Given the description of an element on the screen output the (x, y) to click on. 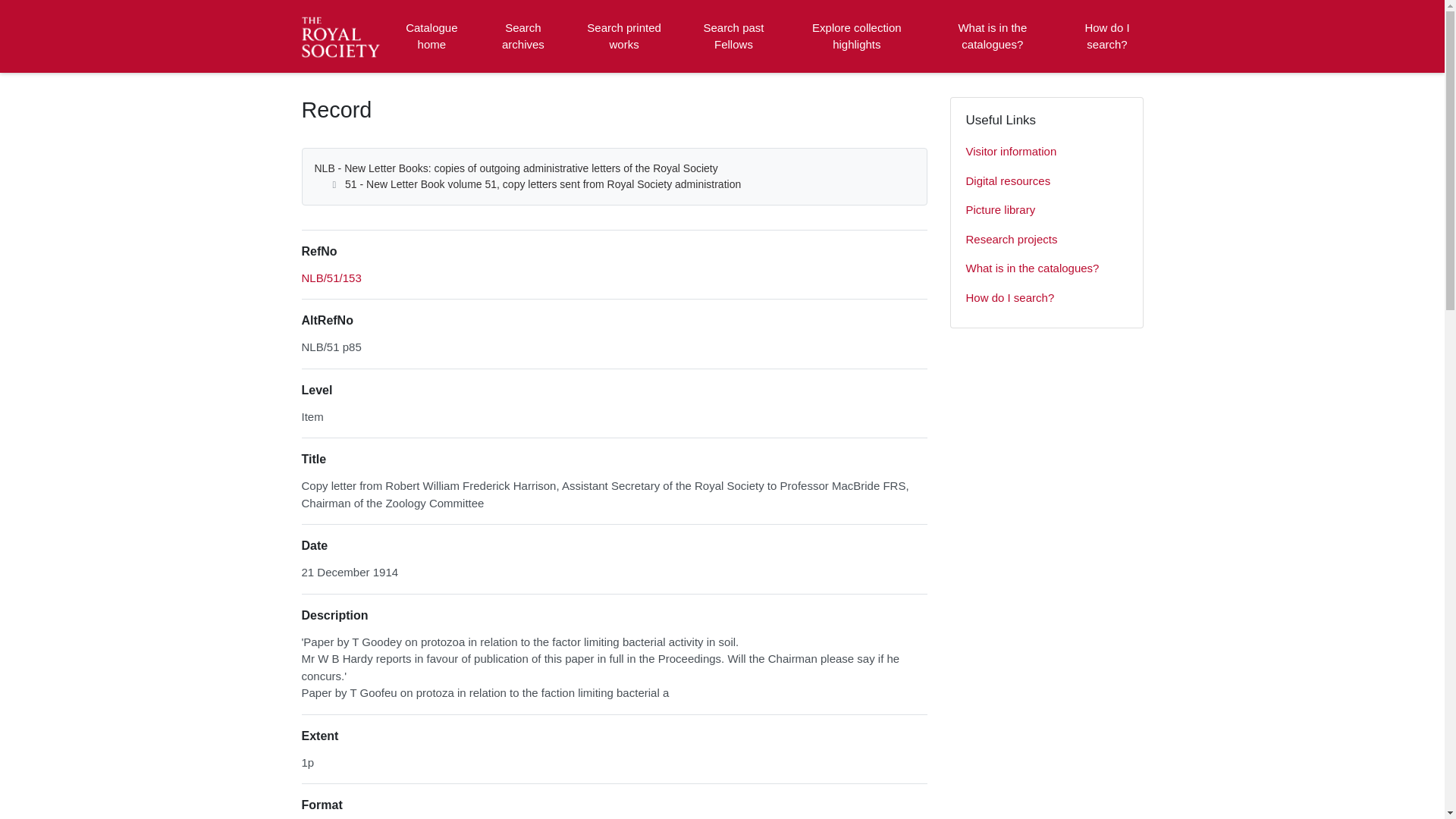
Catalogue home (431, 36)
Browse record in hierarchy. (331, 277)
How do I search? (1046, 297)
Search printed works (624, 36)
Search archives (522, 36)
Picture library (1046, 210)
Homepage (343, 36)
Visitor information (1046, 152)
Search past Fellows (732, 36)
Research projects (1046, 239)
What is in the catalogues? (991, 36)
Digital resources (1046, 181)
How do I search? (1106, 36)
